Given the description of an element on the screen output the (x, y) to click on. 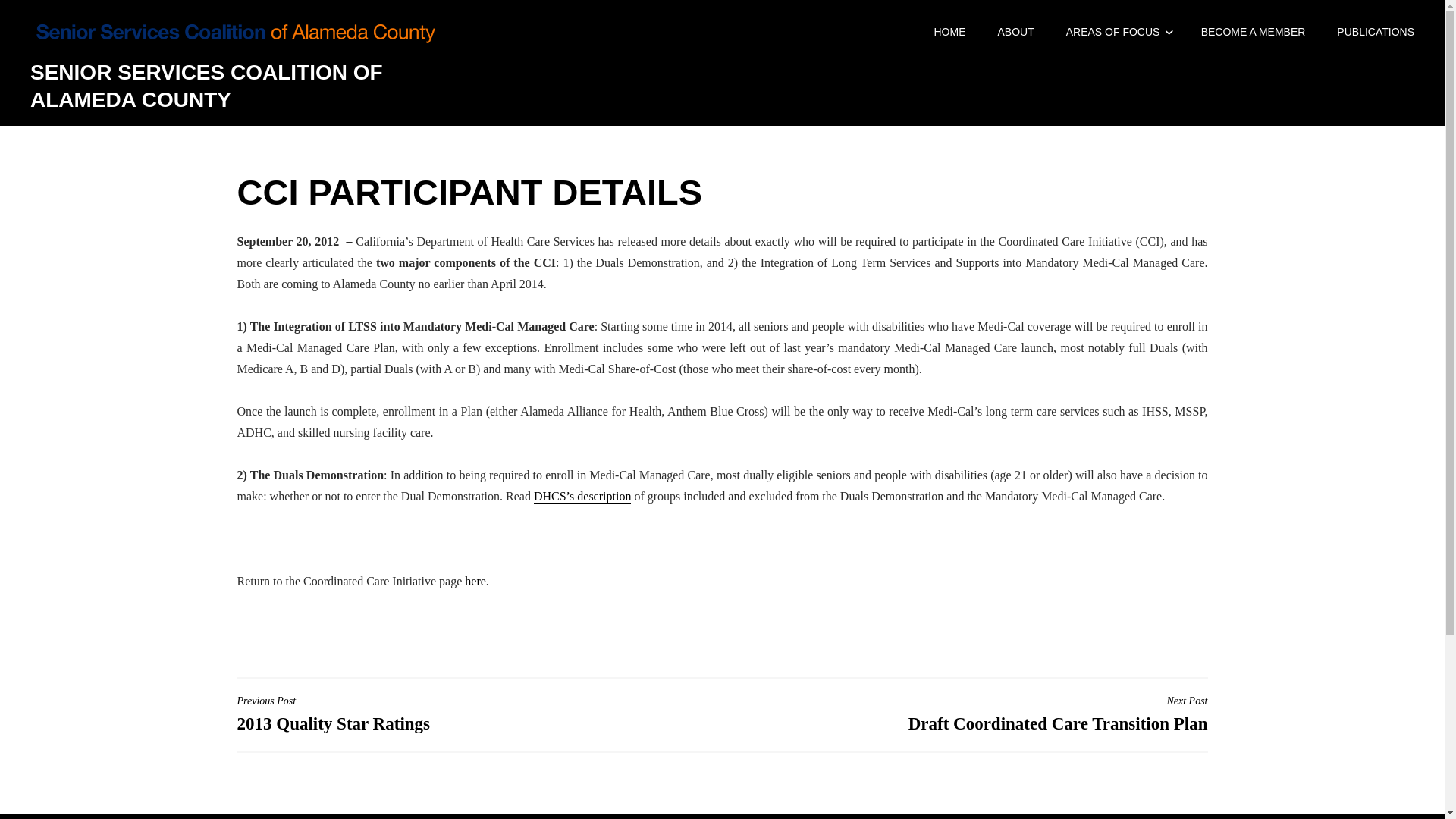
here (475, 581)
AREAS OF FOCUS (1112, 31)
SENIOR SERVICES COALITION OF ALAMEDA COUNTY (206, 85)
PUBLICATIONS (1374, 31)
Search (22, 12)
BECOME A MEMBER (968, 713)
ABOUT (1253, 31)
HOME (474, 713)
